Given the description of an element on the screen output the (x, y) to click on. 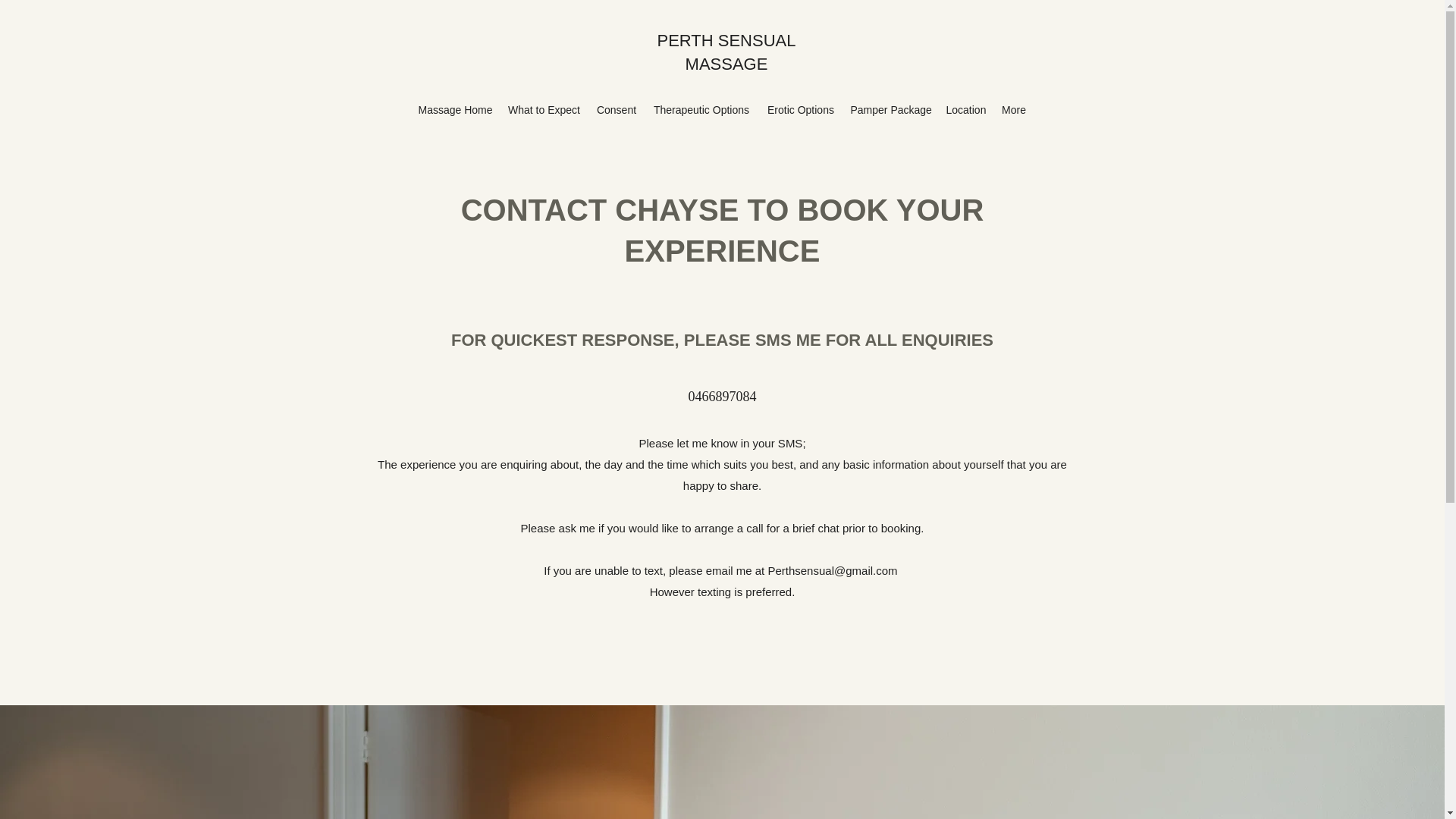
Consent (615, 109)
What to Expect (543, 109)
Therapeutic Options (700, 109)
Massage Home (454, 109)
Location (964, 109)
Erotic Options (800, 109)
Pamper Package (890, 109)
